Given the description of an element on the screen output the (x, y) to click on. 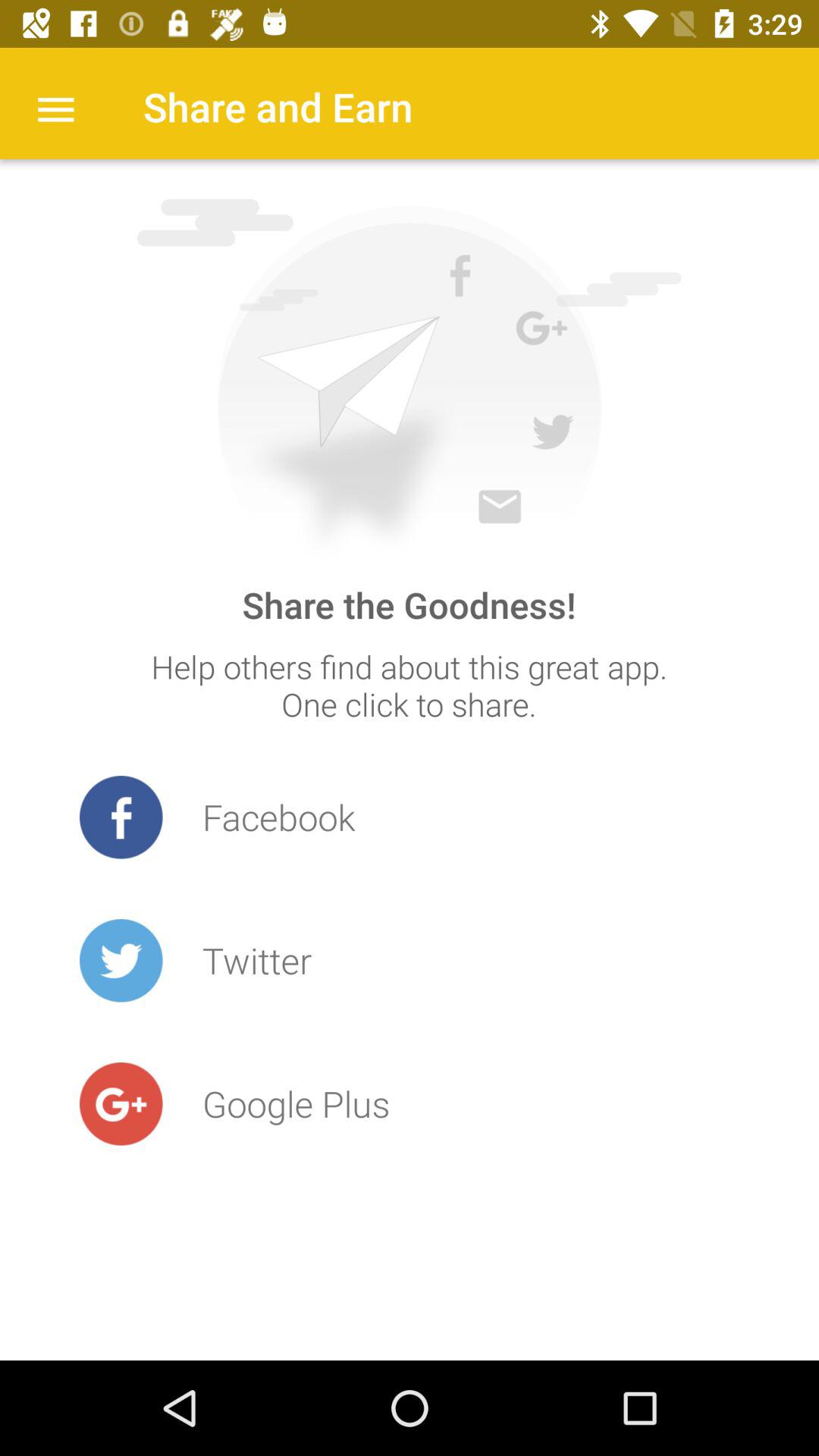
swipe to the share and earn item (277, 106)
